Given the description of an element on the screen output the (x, y) to click on. 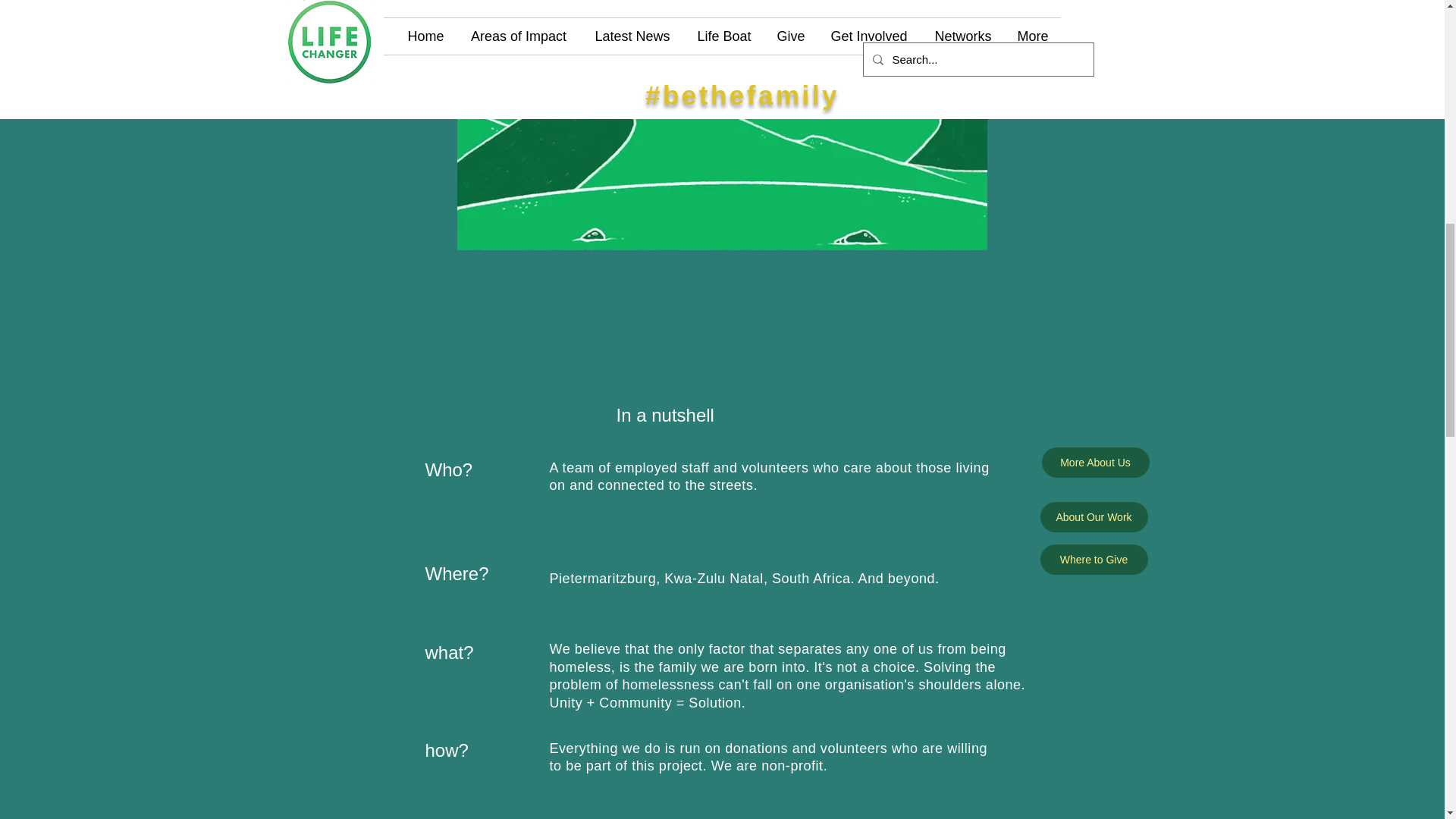
Where to Give (1094, 559)
About Our Work (1094, 517)
More About Us (1096, 462)
